Given the description of an element on the screen output the (x, y) to click on. 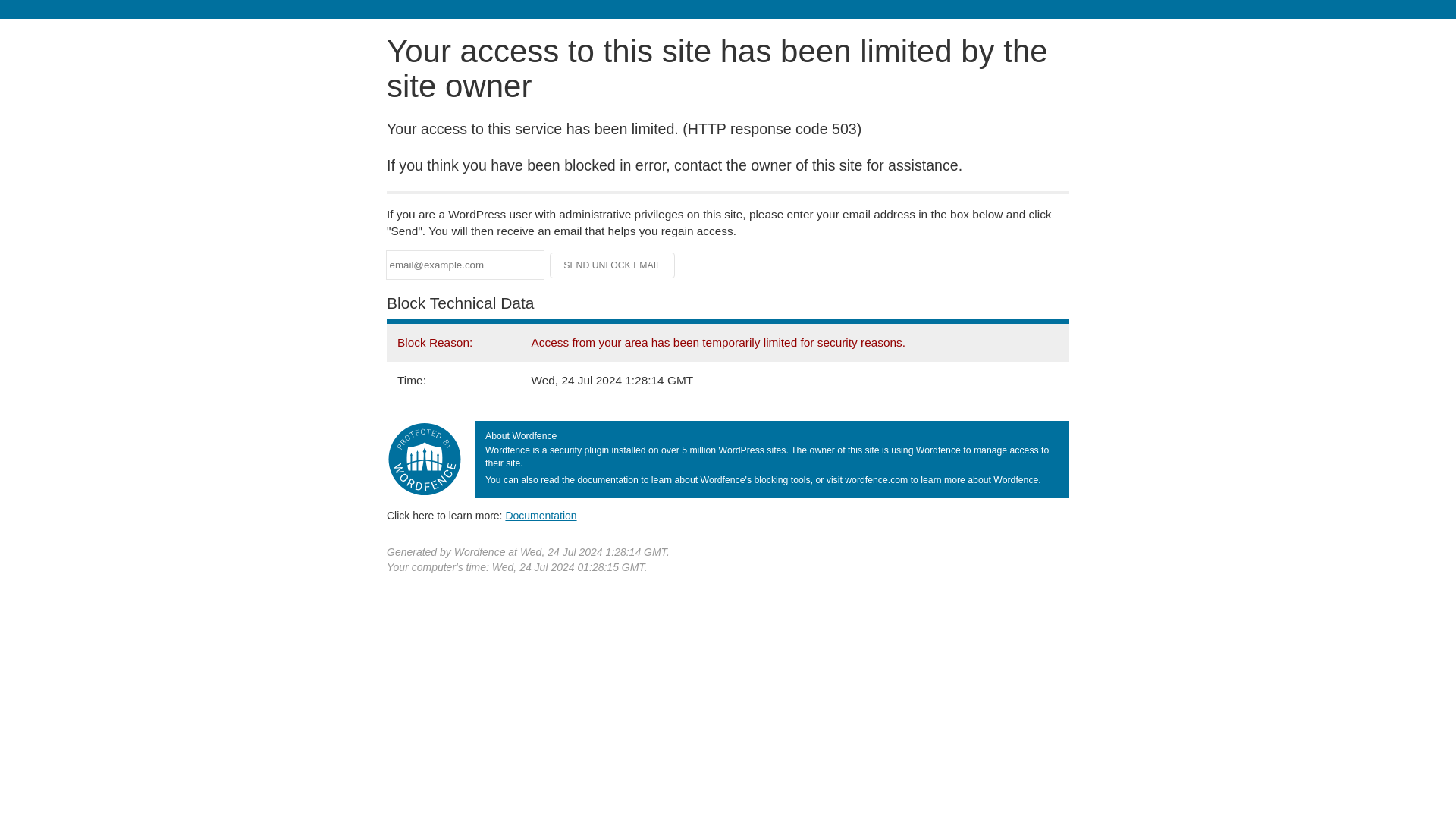
Send Unlock Email (612, 265)
Send Unlock Email (612, 265)
Documentation (540, 515)
